Given the description of an element on the screen output the (x, y) to click on. 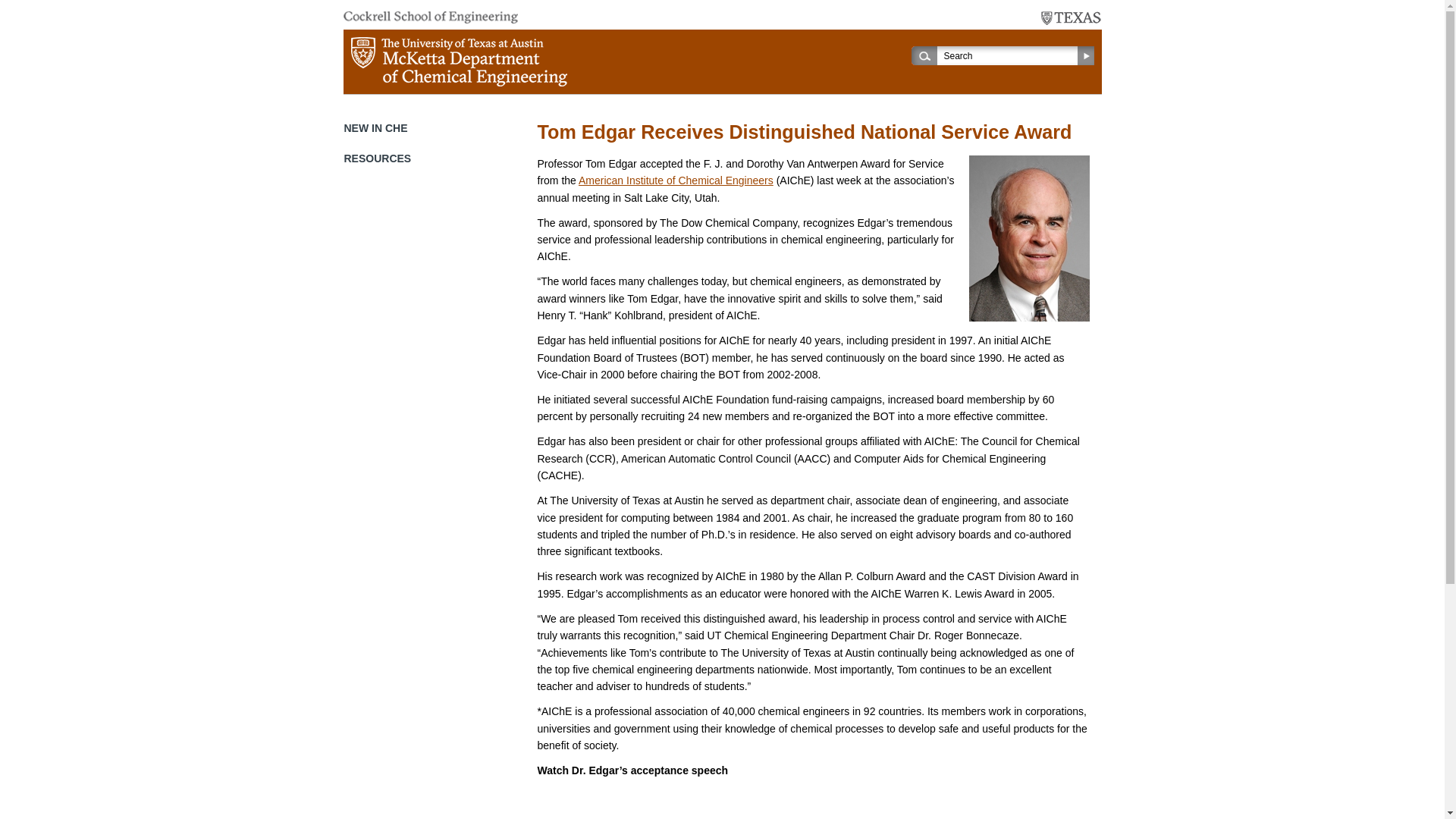
The University of Texas at Austin (1070, 18)
Cockrell School of Engineering (429, 17)
Search (1010, 54)
American Institute of Chemical Engineers (675, 180)
McKetta Department of Chemical Engineering (458, 61)
Search (1010, 54)
